Given the description of an element on the screen output the (x, y) to click on. 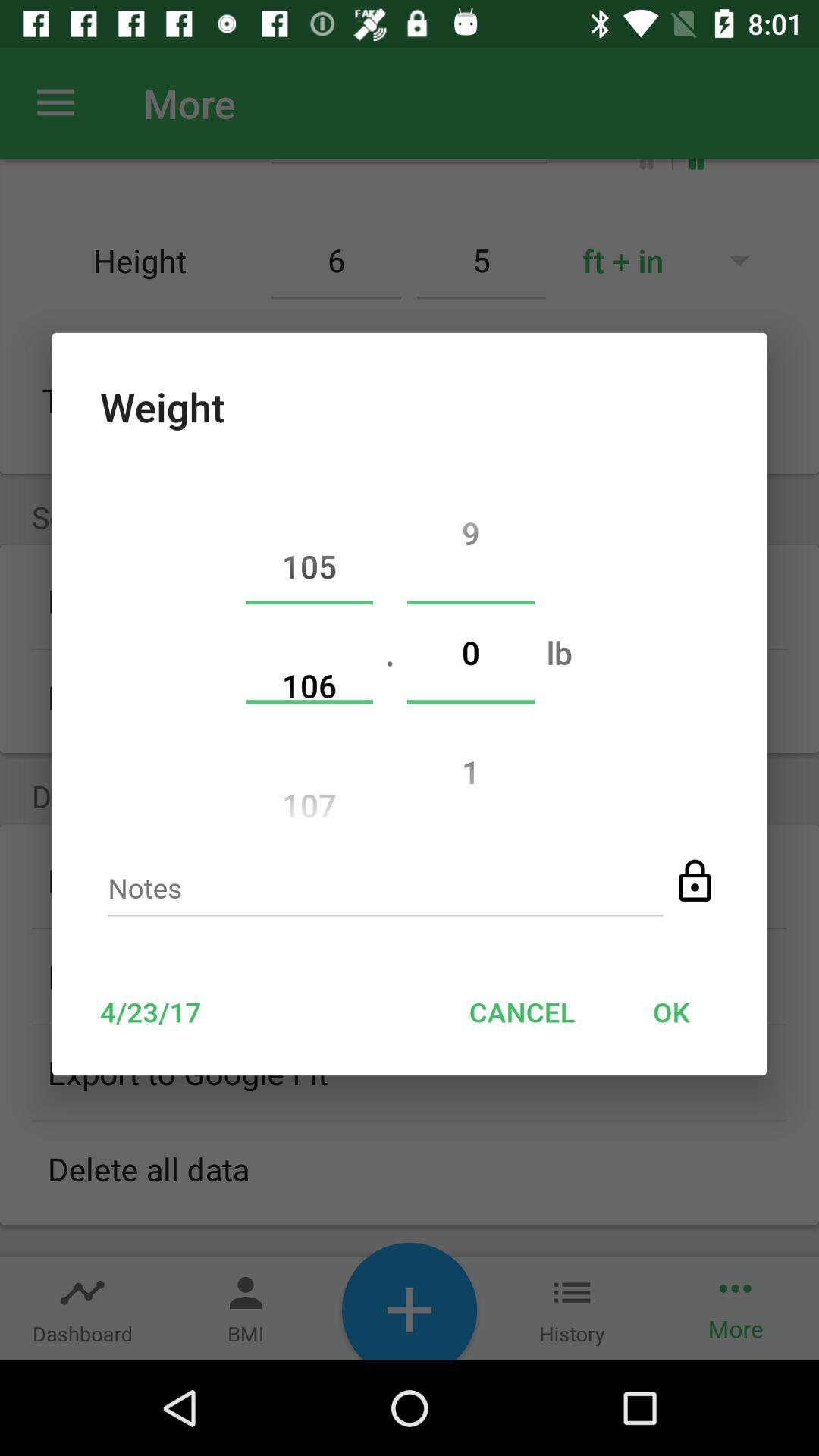
type notes (385, 892)
